Given the description of an element on the screen output the (x, y) to click on. 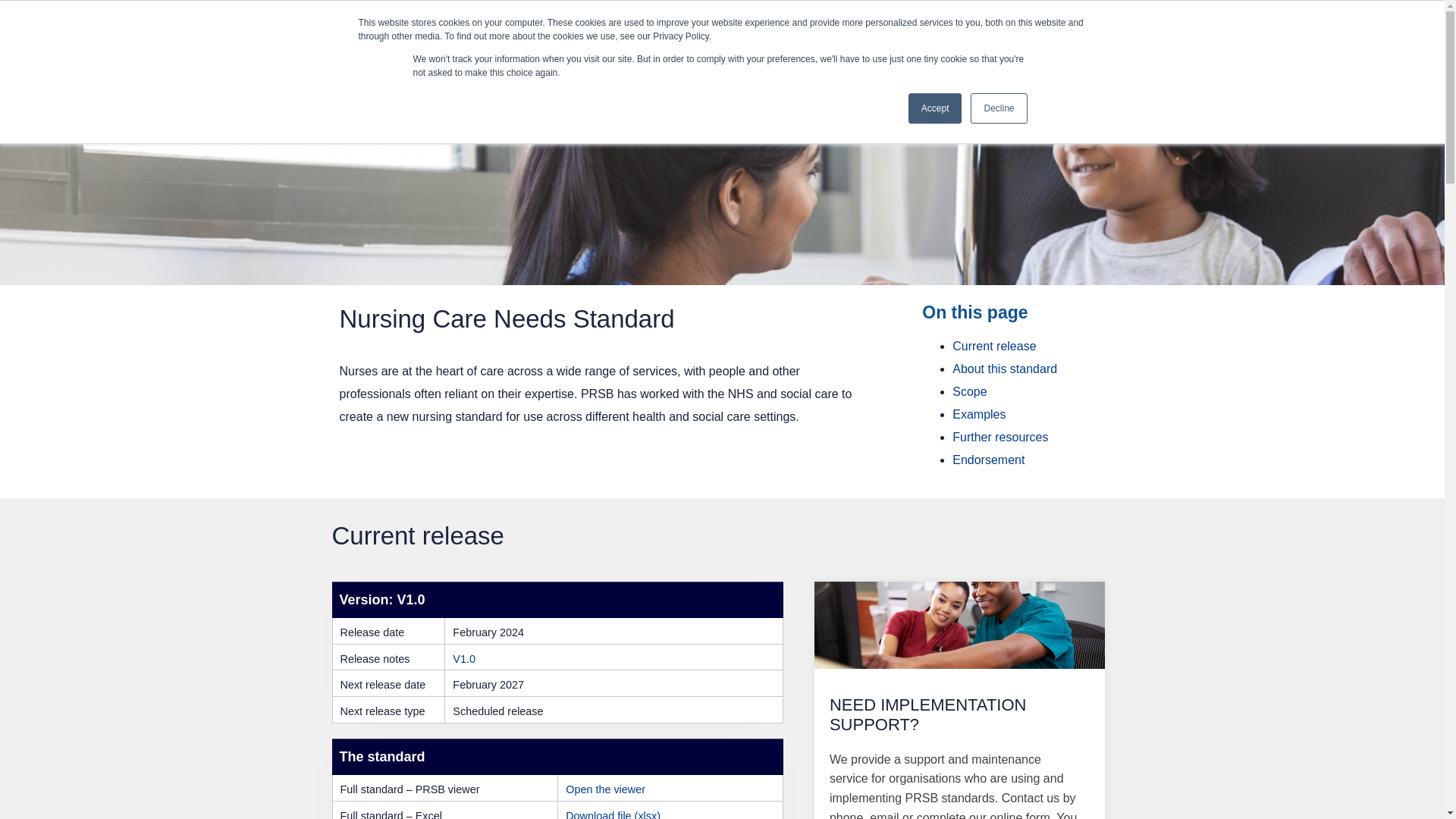
LATEST NEWS (559, 21)
Accept (935, 108)
BECOME A MEMBER (575, 44)
Standards (671, 103)
Male,And,Female,Nurse,Working,At,Nurses,Station (959, 625)
SUPPORT SERVICES (659, 21)
Search (1110, 33)
Decline (998, 108)
